Given the description of an element on the screen output the (x, y) to click on. 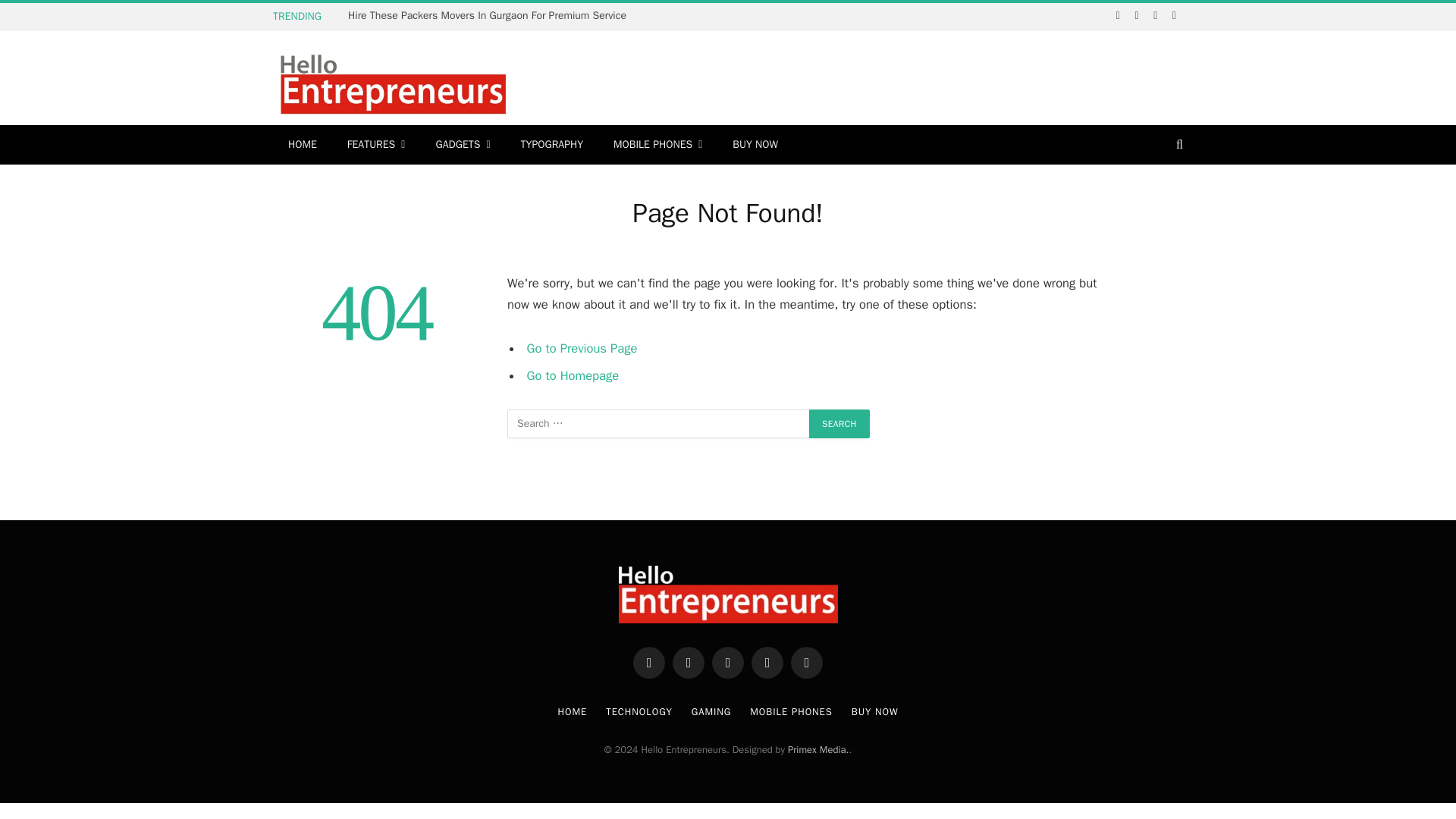
HOME (572, 711)
TECHNOLOGY (638, 711)
YouTube (767, 662)
HOME (302, 144)
FEATURES (375, 144)
BUY NOW (755, 144)
TYPOGRAPHY (551, 144)
Hello Entrepreneurs (392, 84)
Go to Previous Page (582, 348)
Hire These Packers Movers In Gurgaon For Premium Service (490, 15)
